Given the description of an element on the screen output the (x, y) to click on. 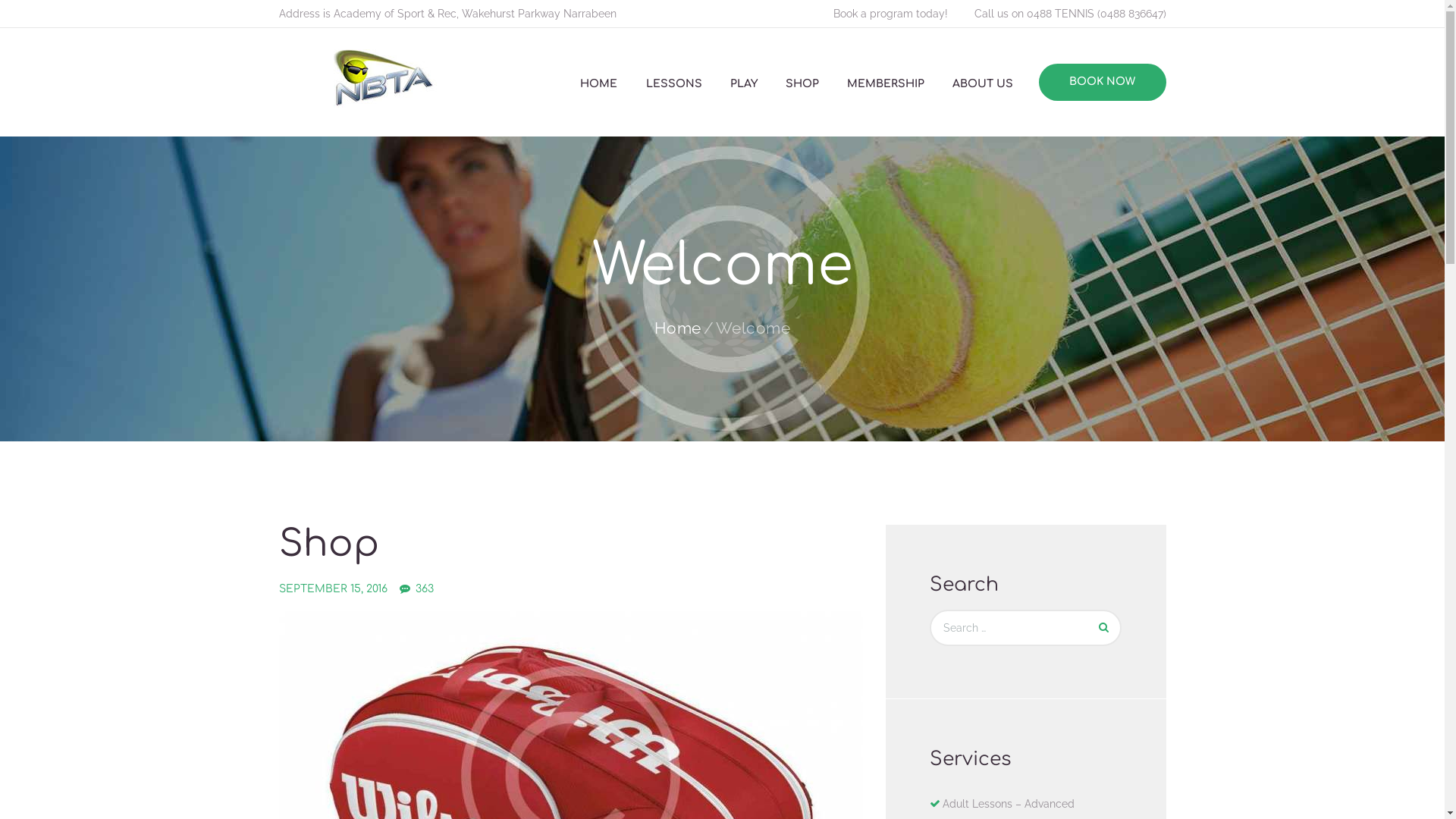
SEPTEMBER 15, 2016 Element type: text (333, 588)
363 Element type: text (416, 589)
0488 TENNIS (0488 836647) Element type: text (1096, 13)
Search for: Element type: hover (1024, 627)
LESSONS Element type: text (673, 83)
BOOK NOW Element type: text (1101, 81)
MEMBERSHIP Element type: text (885, 83)
HOME Element type: text (598, 83)
SHOP Element type: text (801, 83)
Home Element type: text (677, 327)
PLAY Element type: text (743, 83)
Shop Element type: text (329, 544)
ABOUT US Element type: text (982, 83)
